Given the description of an element on the screen output the (x, y) to click on. 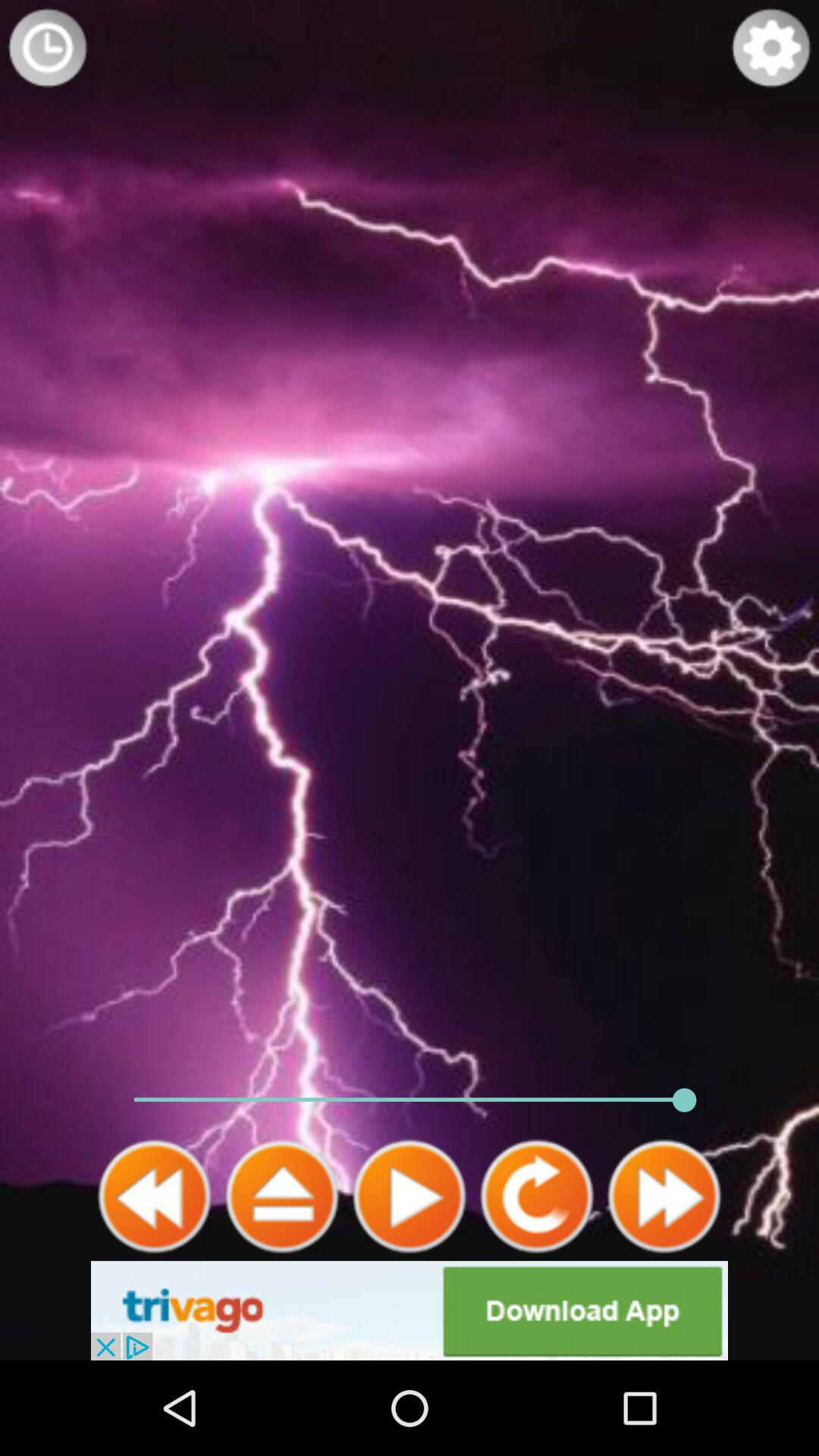
set a timer (47, 47)
